Given the description of an element on the screen output the (x, y) to click on. 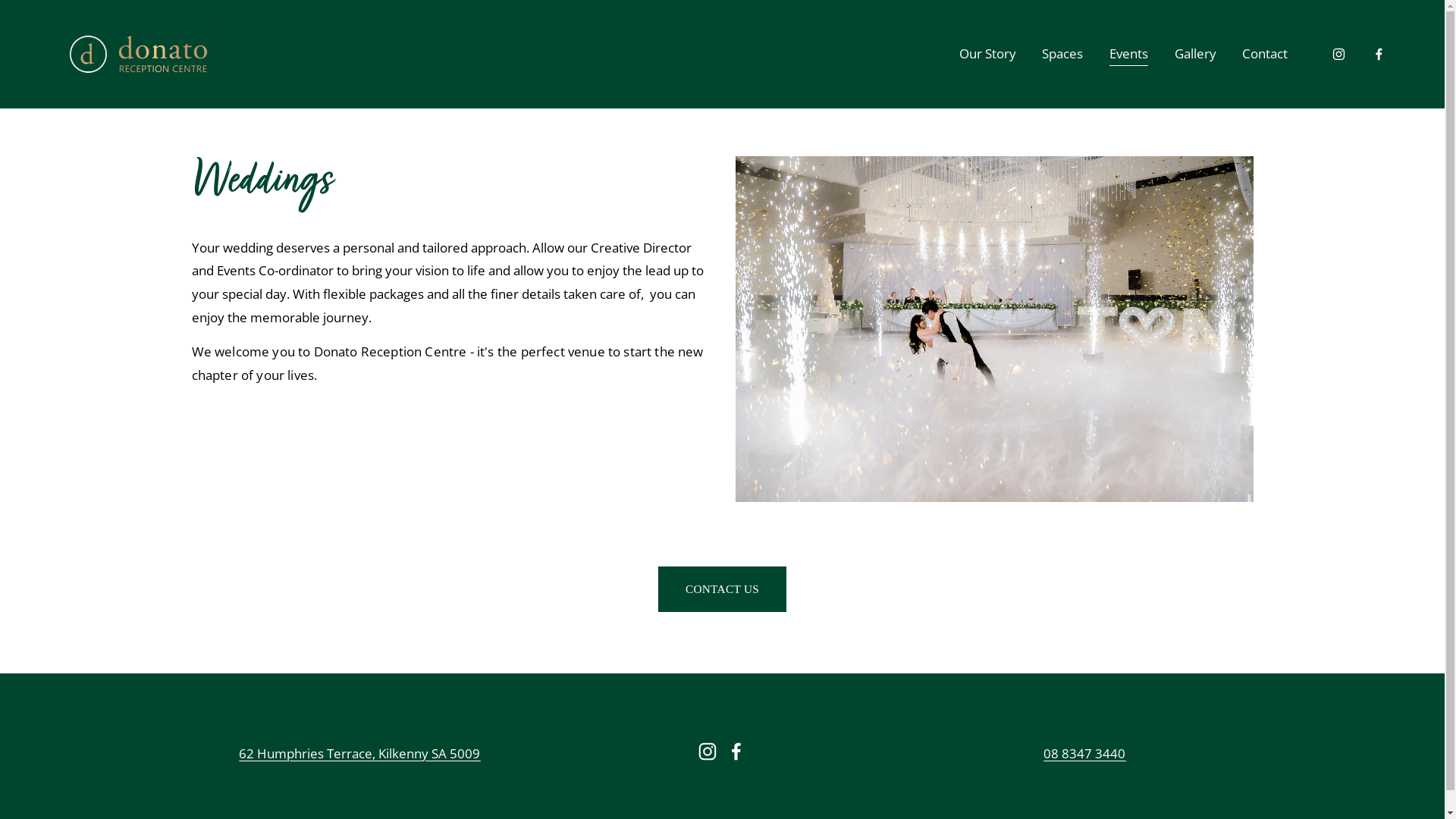
Spaces Element type: text (1061, 53)
Gallery Element type: text (1195, 53)
Our Story Element type: text (987, 53)
08 8347 3440 Element type: text (1084, 753)
Events Element type: text (1128, 53)
CONTACT US Element type: text (722, 589)
Contact Element type: text (1264, 53)
62 Humphries Terrace, Kilkenny SA 5009 Element type: text (359, 753)
